Given the description of an element on the screen output the (x, y) to click on. 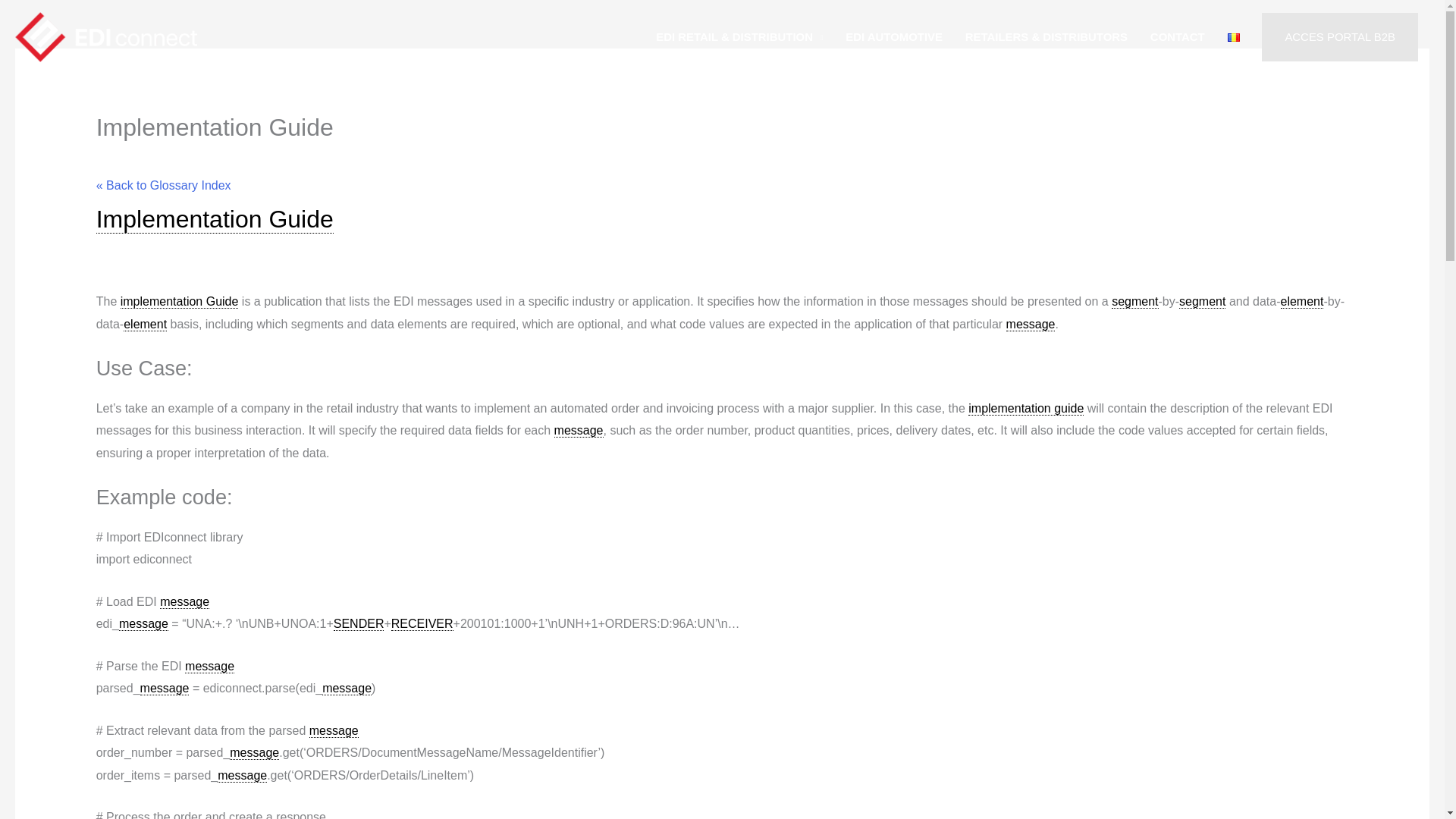
message (184, 602)
Implementation Guide (214, 219)
message (579, 430)
segment (1202, 301)
implementation Guide (179, 301)
segment (1134, 301)
message (143, 623)
element (145, 324)
SENDER (358, 623)
message (1030, 324)
